Given the description of an element on the screen output the (x, y) to click on. 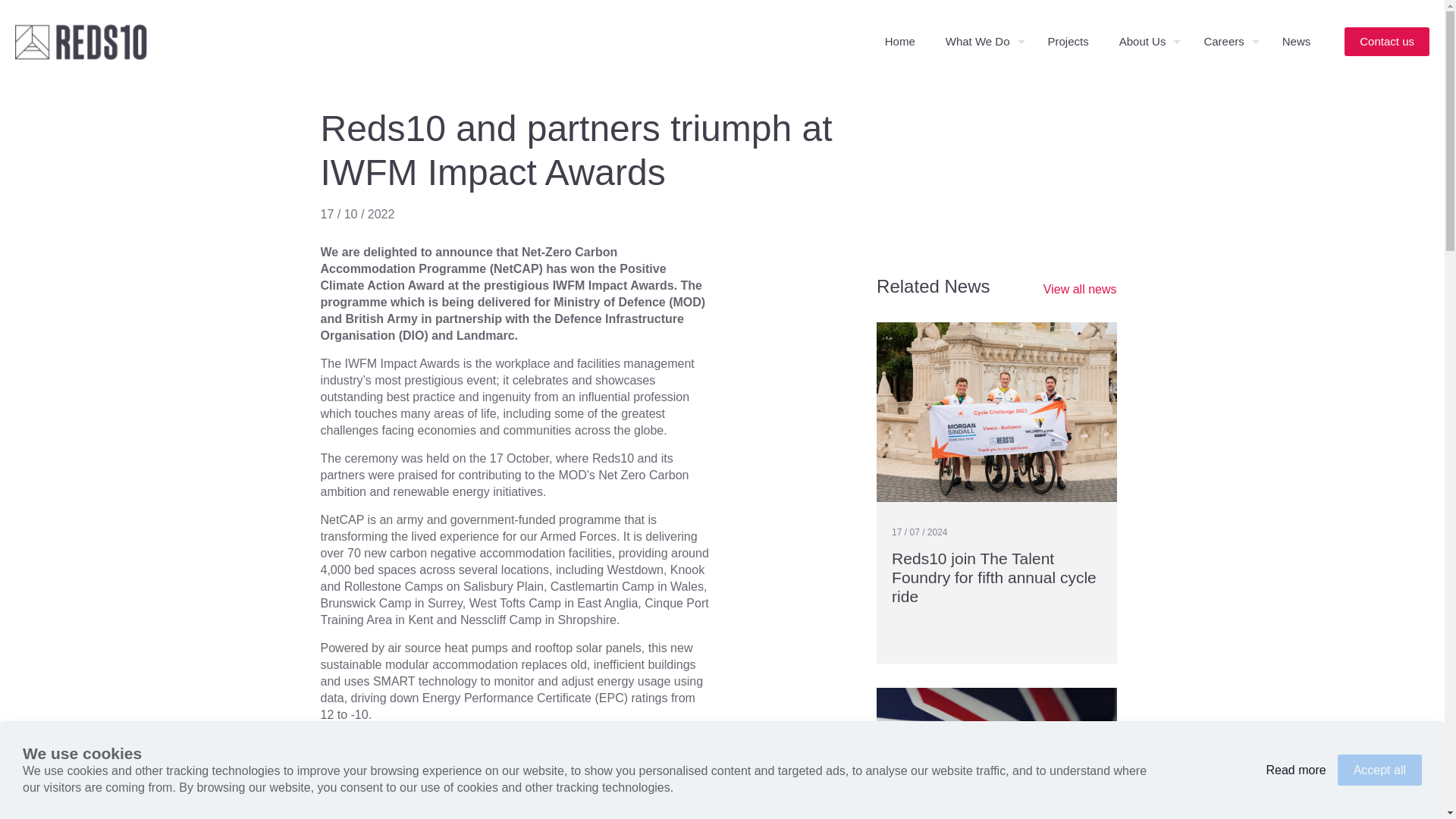
Reds10 join The Talent Foundry for fifth annual cycle ride (993, 577)
View all news (1079, 289)
View all news (1079, 289)
Careers (1227, 41)
What We Do (981, 41)
Reds10 (80, 41)
About Us (1146, 41)
Contact us (1386, 41)
